Given the description of an element on the screen output the (x, y) to click on. 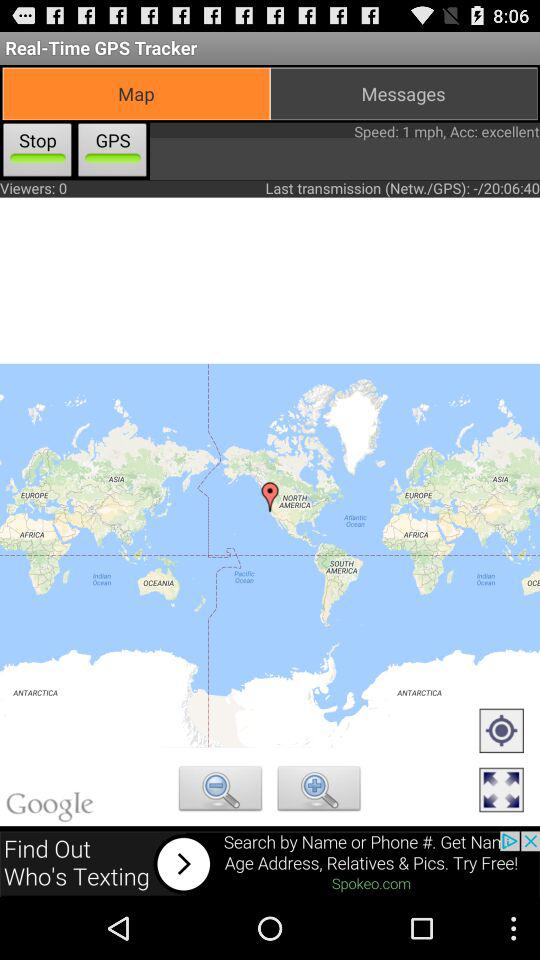
location zoom (319, 791)
